Given the description of an element on the screen output the (x, y) to click on. 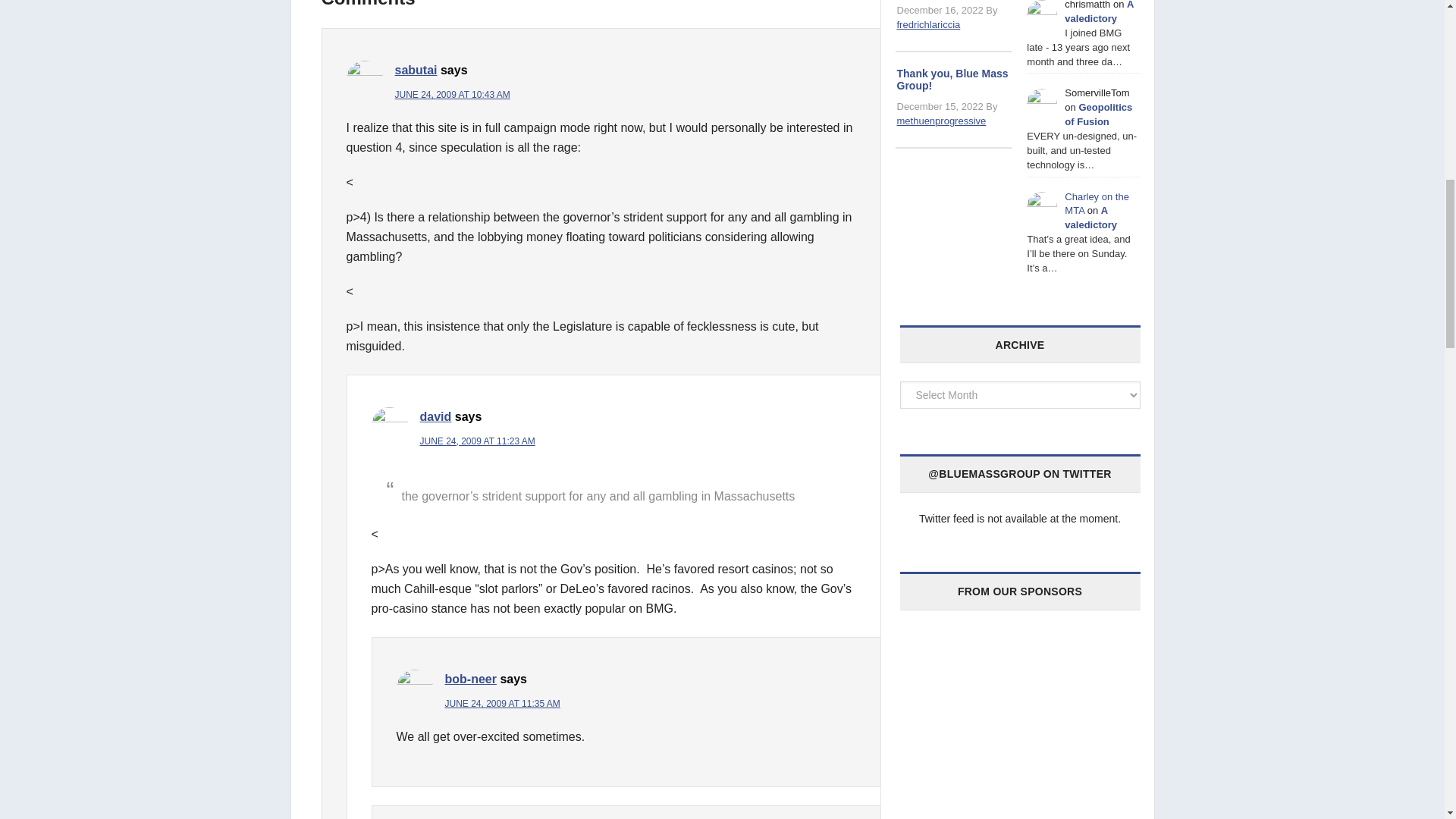
bob-neer (470, 678)
JUNE 24, 2009 AT 11:23 AM (477, 440)
JUNE 24, 2009 AT 11:35 AM (501, 703)
david (435, 416)
sabutai (415, 69)
JUNE 24, 2009 AT 10:43 AM (451, 94)
